Given the description of an element on the screen output the (x, y) to click on. 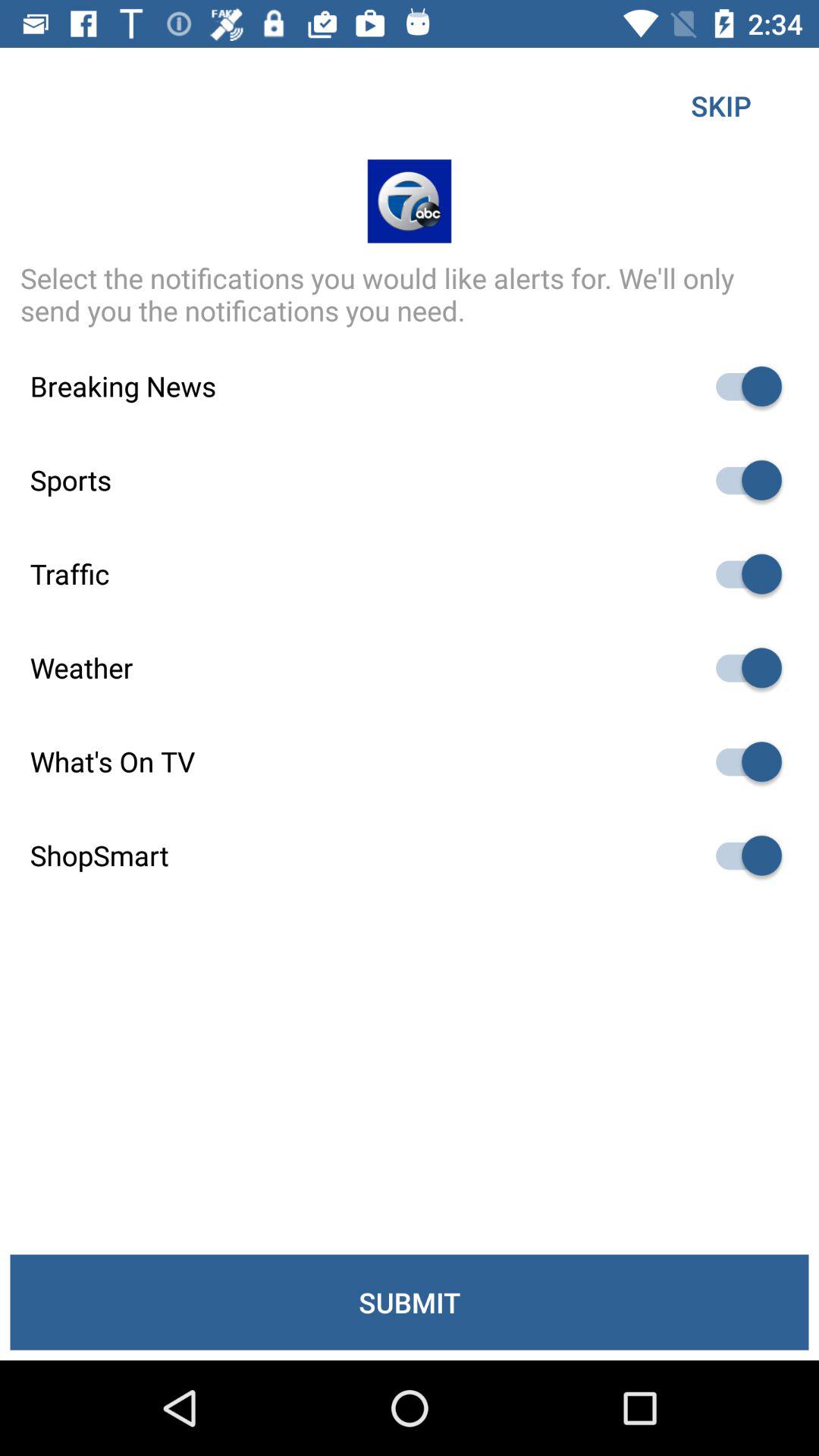
toggle weather (741, 667)
